Given the description of an element on the screen output the (x, y) to click on. 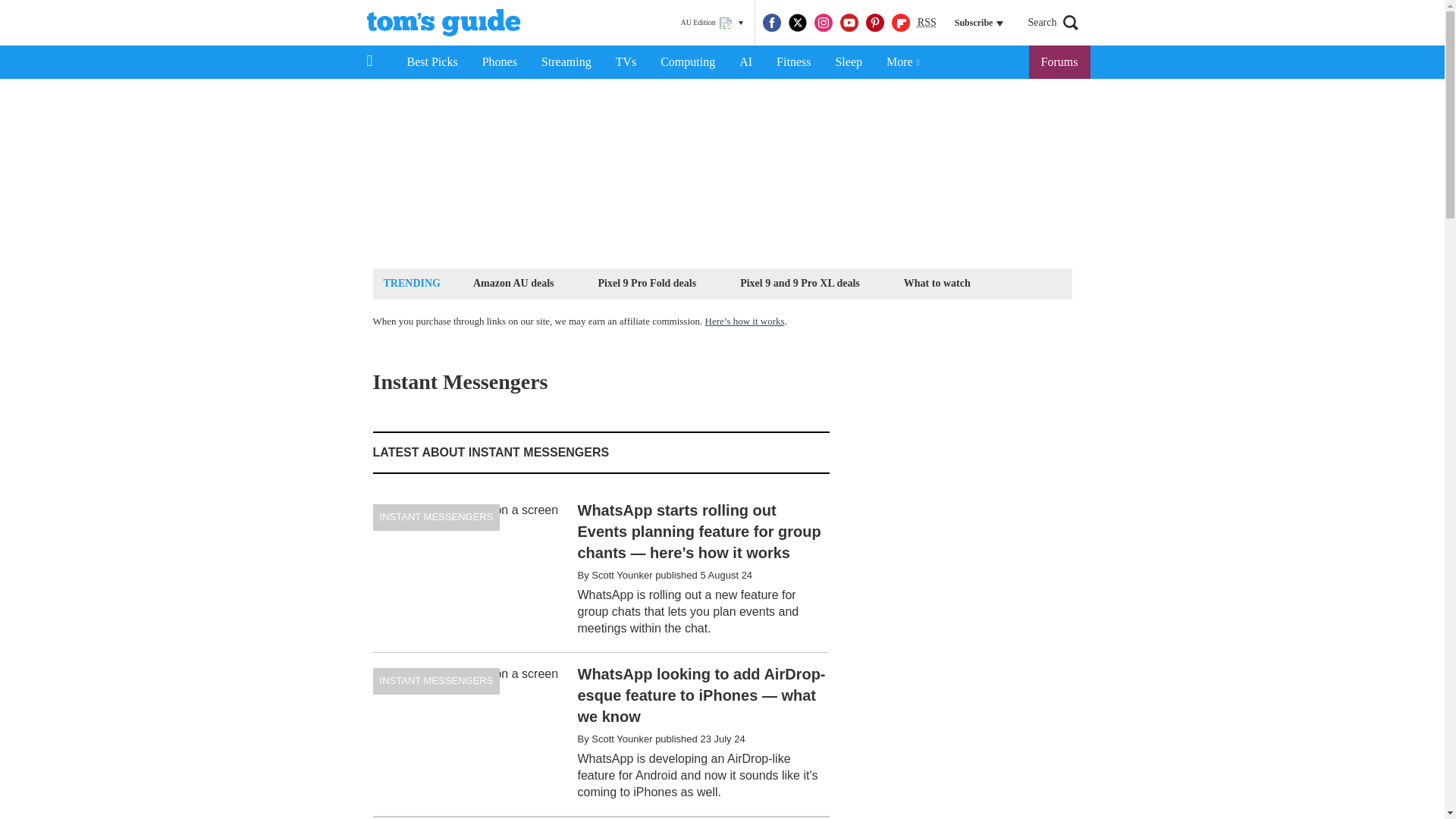
Computing (686, 61)
AI (745, 61)
Phones (499, 61)
RSS (926, 22)
Really Simple Syndication (926, 21)
Sleep (848, 61)
Best Picks (431, 61)
Fitness (793, 61)
TVs (626, 61)
Streaming (566, 61)
